Given the description of an element on the screen output the (x, y) to click on. 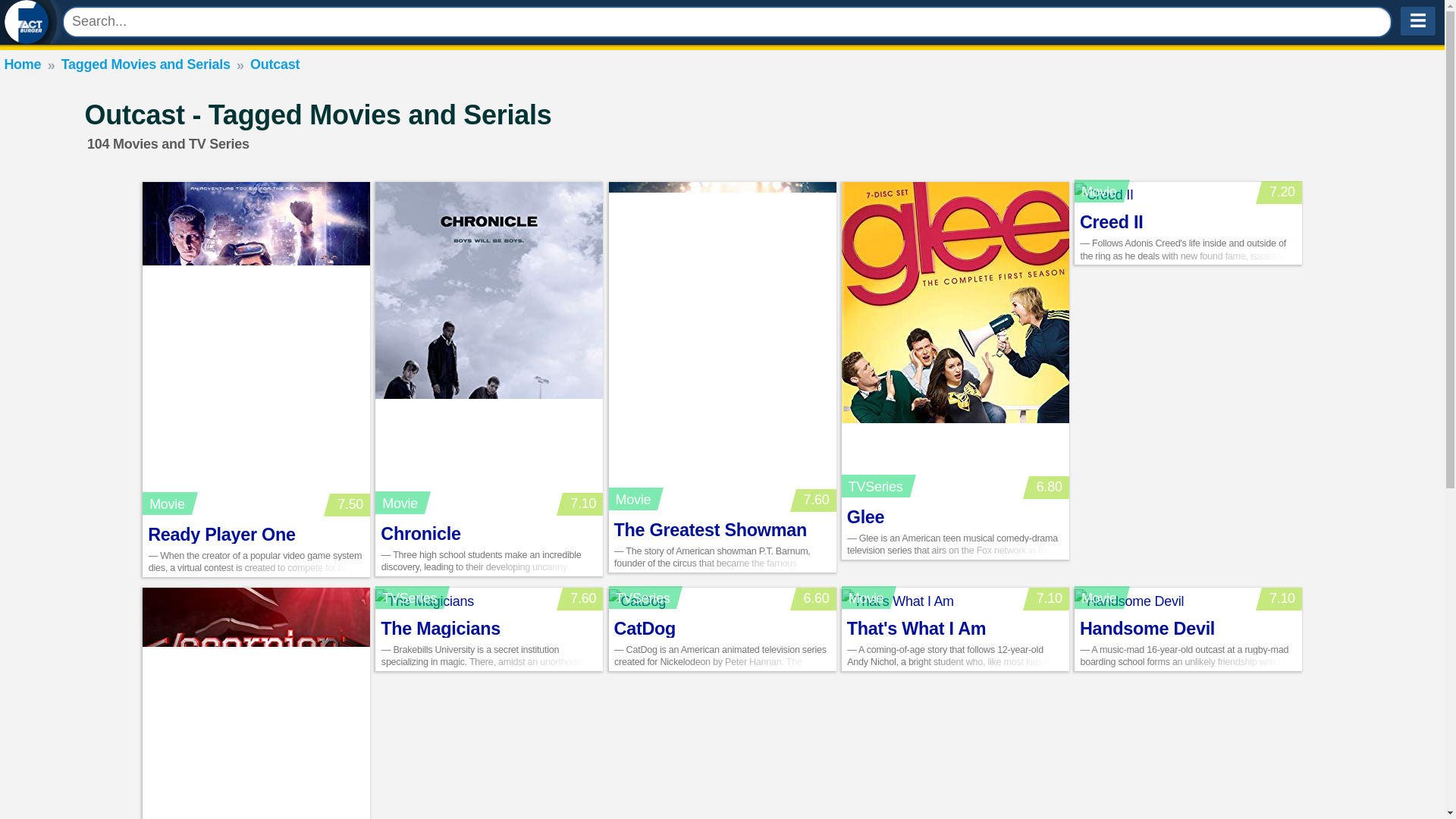
Home (22, 63)
Outcast (274, 63)
Tagged Movies and Serials (145, 63)
